Given the description of an element on the screen output the (x, y) to click on. 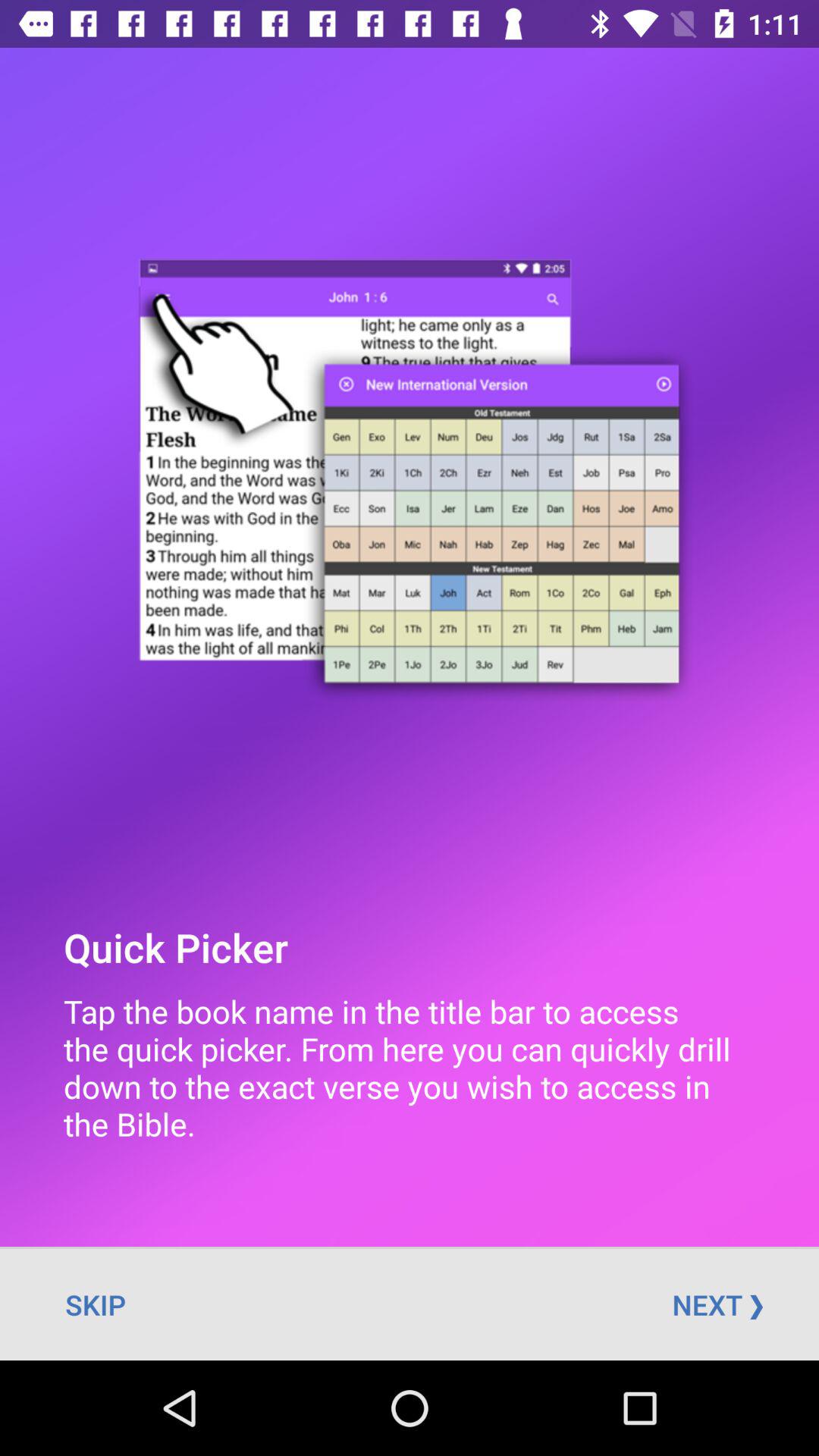
open the icon to the right of skip item (717, 1304)
